Given the description of an element on the screen output the (x, y) to click on. 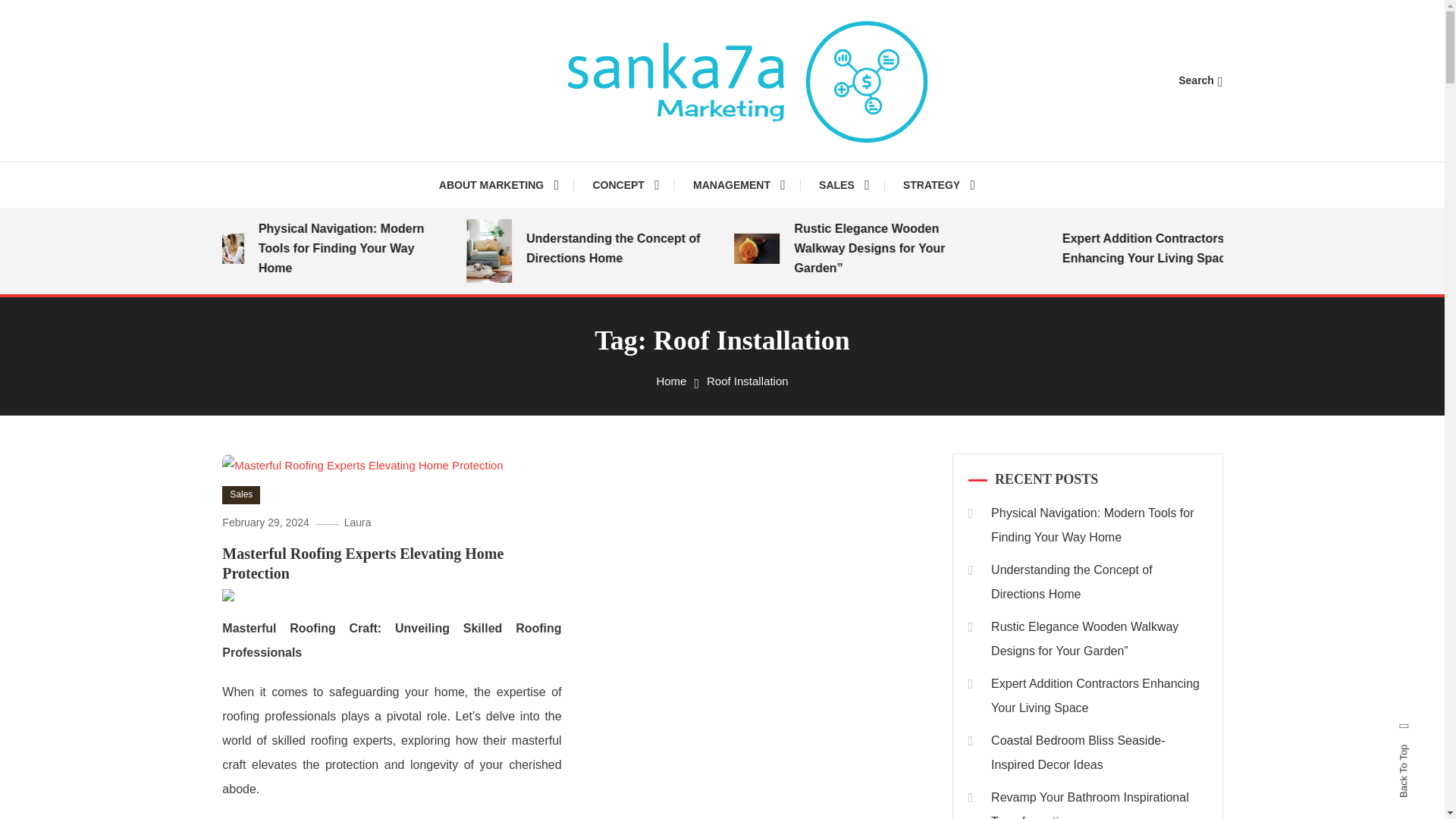
Search (1200, 80)
ABOUT MARKETING (506, 185)
Search (768, 434)
Skip To Content (40, 10)
STRATEGY (939, 185)
CONCEPT (625, 185)
Understanding the Concept of Directions Home (644, 248)
SALES (844, 185)
Sanka7a (499, 177)
Physical Navigation: Modern Tools for Finding Your Way Home (376, 248)
MANAGEMENT (739, 185)
